Given the description of an element on the screen output the (x, y) to click on. 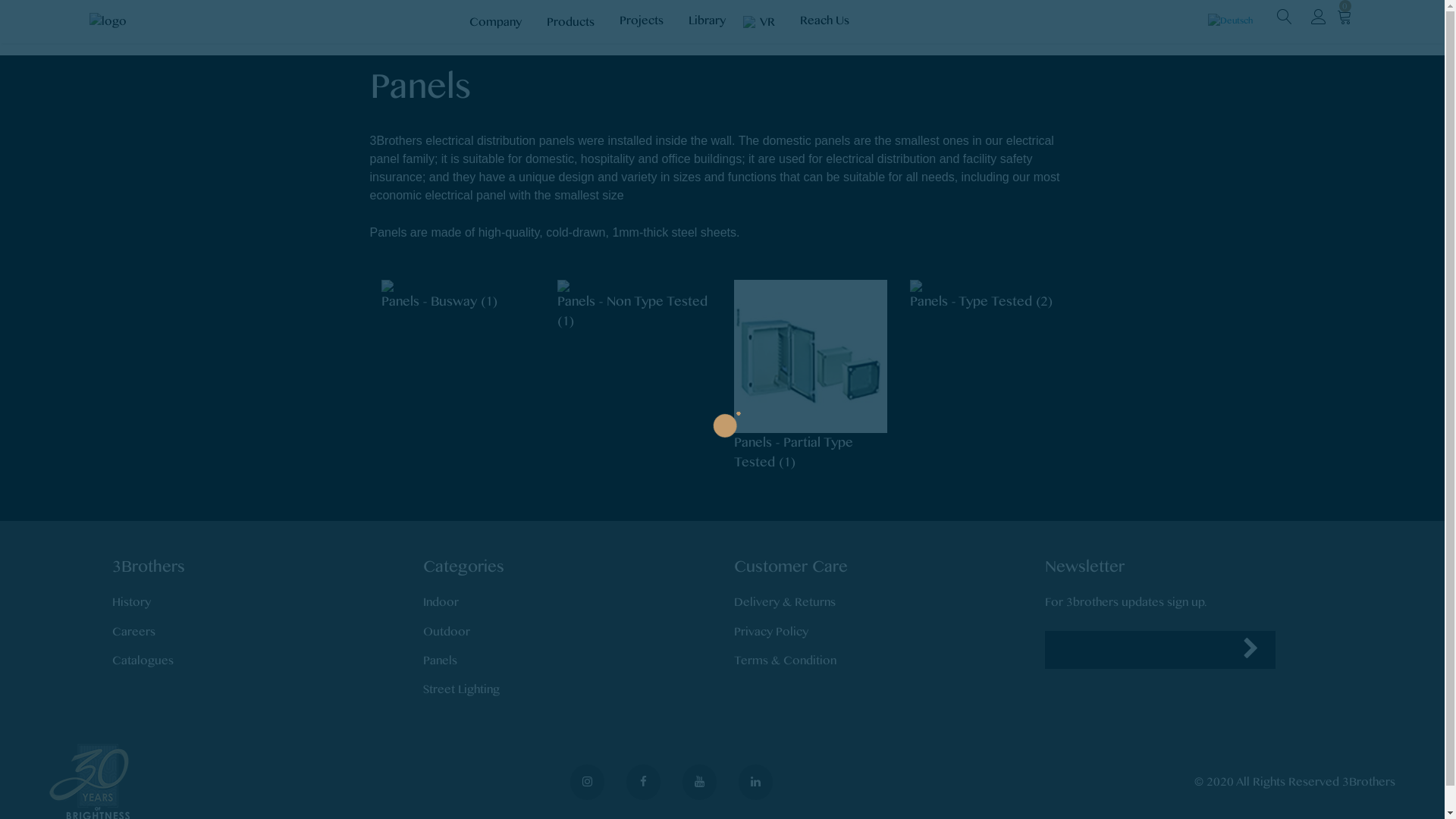
Outdoor Element type: text (446, 631)
Delivery & Returns Element type: text (784, 601)
3Brothersx Element type: hover (107, 21)
Deutsch Element type: hover (1229, 20)
Products Element type: text (571, 21)
Panels - Non Type Tested (1) Element type: text (634, 303)
Panels Element type: text (440, 660)
History Element type: text (131, 601)
Catalogues Element type: text (142, 660)
Panels - Busway (1) Element type: text (457, 293)
Terms & Condition Element type: text (785, 660)
VR Element type: text (762, 21)
Panels - Type Tested (2) Element type: text (986, 293)
Careers Element type: text (133, 631)
Privacy Policy Element type: text (771, 631)
My Account Element type: hover (1317, 18)
Panels - Partial Type Tested (1) Element type: text (811, 374)
Street Lighting Element type: text (461, 689)
Company Element type: text (496, 21)
Indoor Element type: text (440, 601)
